Given the description of an element on the screen output the (x, y) to click on. 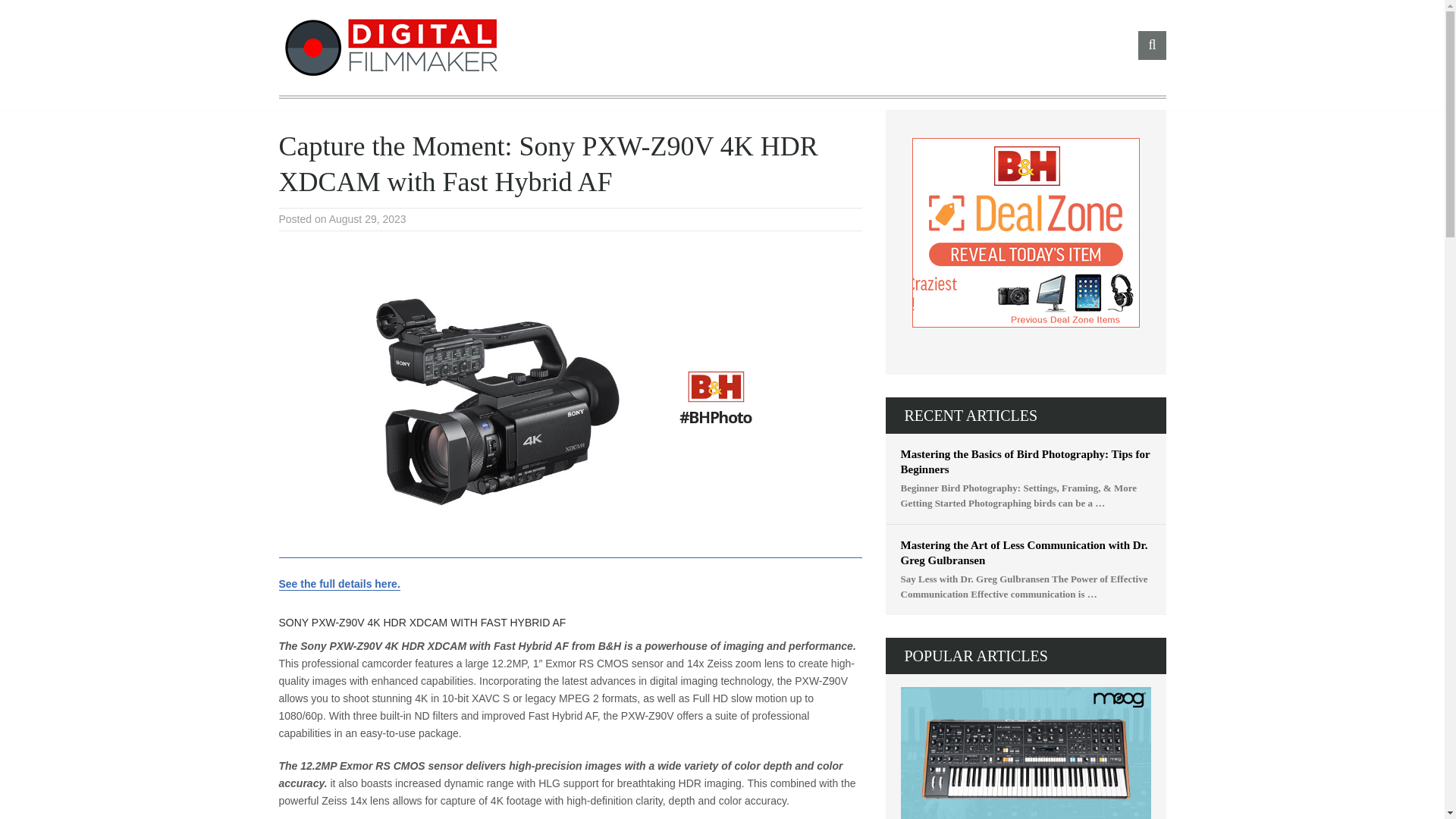
Mastering the Basics of Bird Photography: Tips for Beginners (1026, 461)
See the full details here. (339, 584)
Mastering the Basics of Bird Photography: Tips for Beginners (1026, 461)
